Given the description of an element on the screen output the (x, y) to click on. 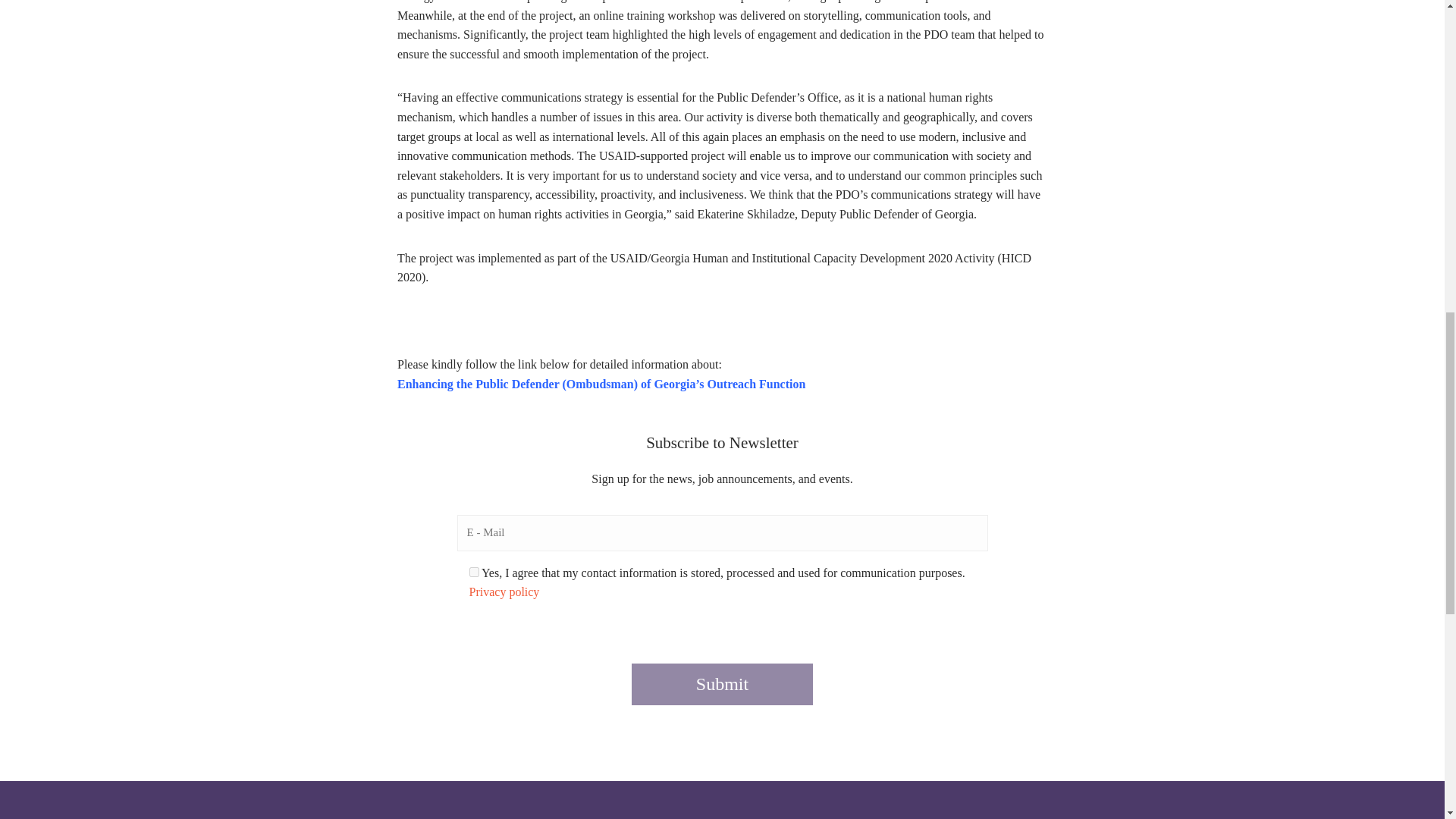
Tourism (459, 796)
Agriculture and Food Security (937, 796)
1 (473, 572)
Submit (721, 684)
Trade (699, 796)
Governance and Public Security (1177, 796)
